Given the description of an element on the screen output the (x, y) to click on. 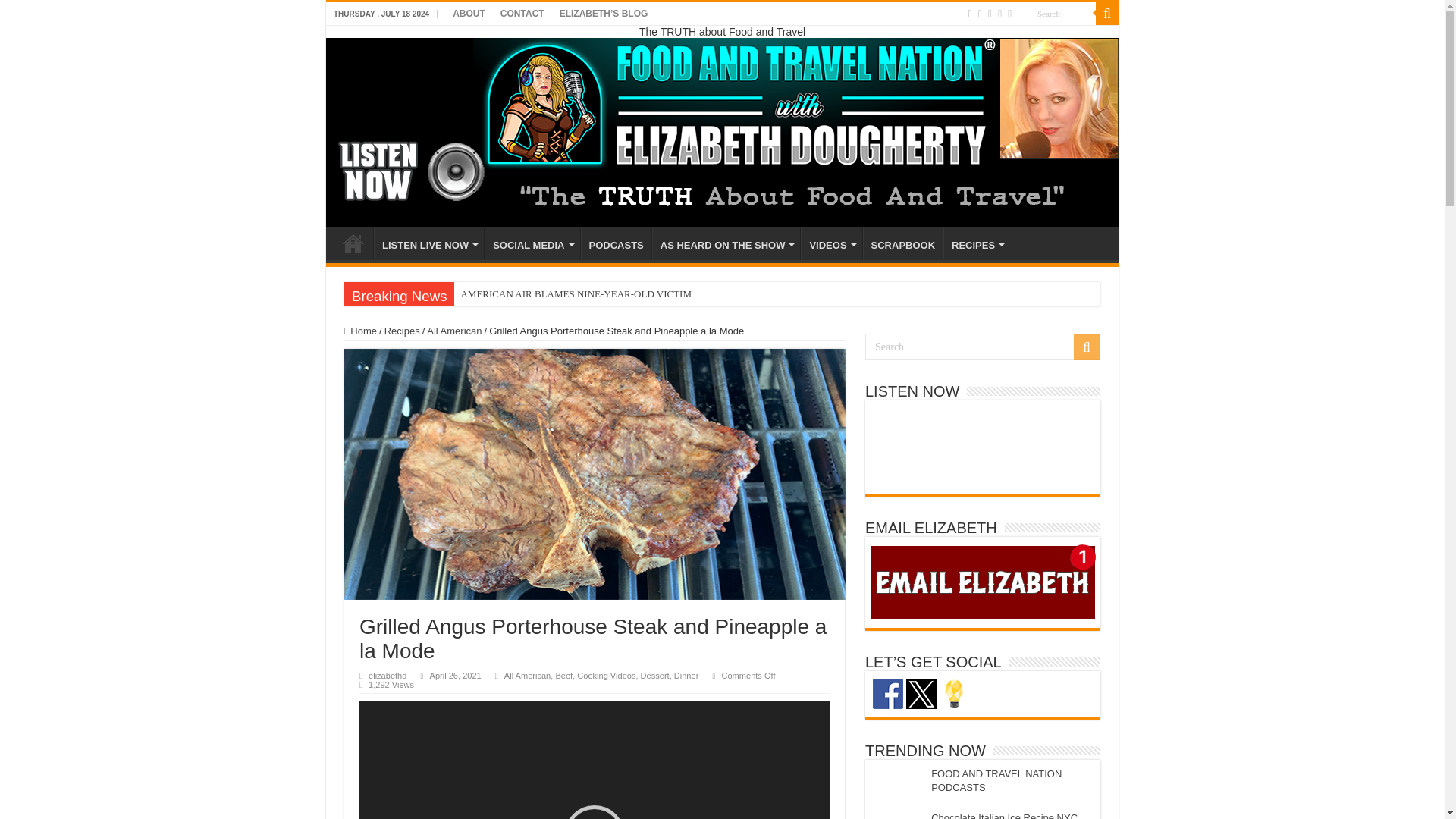
Search (1061, 13)
Search (1061, 13)
Search (982, 346)
Search (1061, 13)
